Given the description of an element on the screen output the (x, y) to click on. 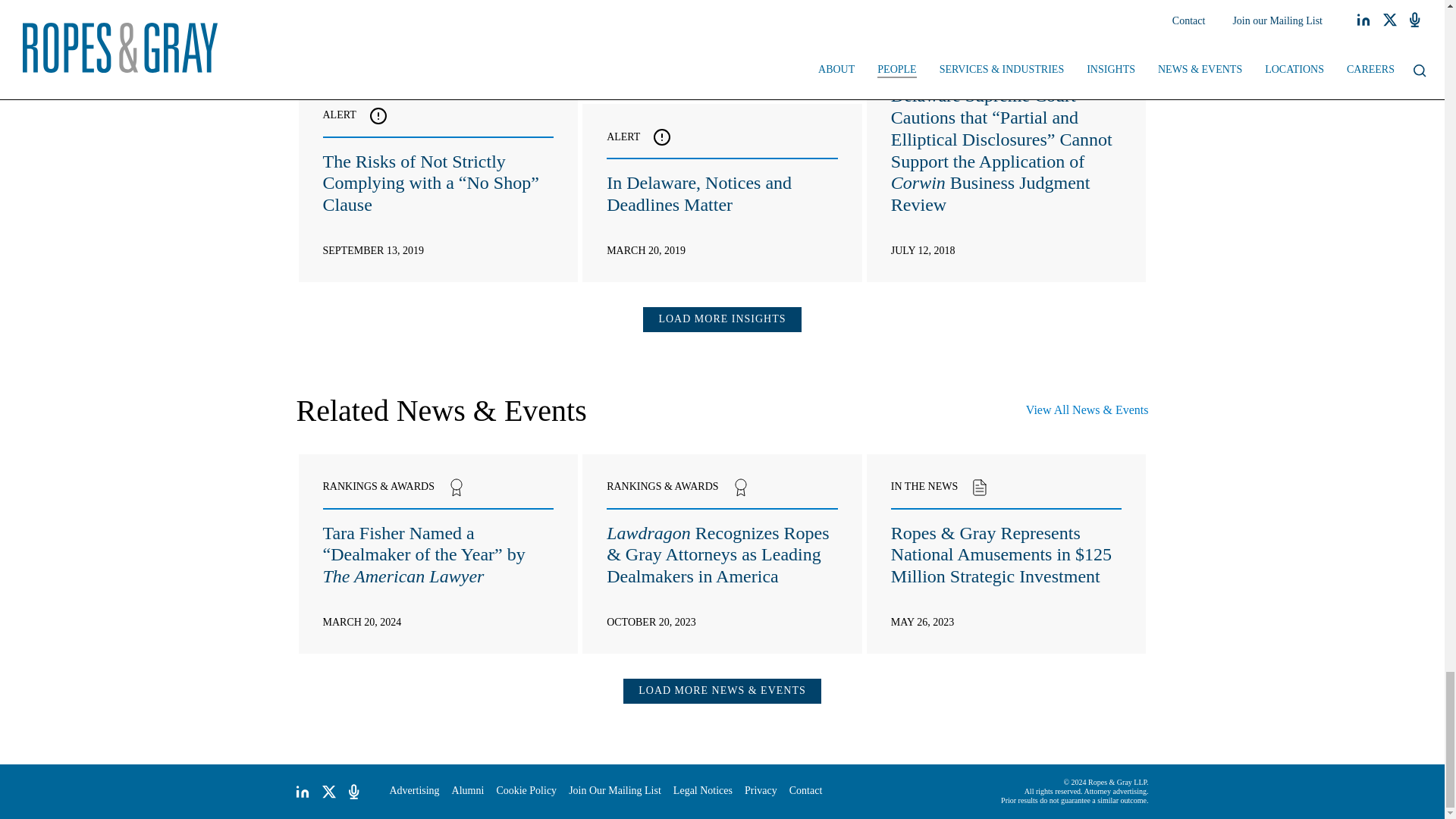
linkedin (301, 791)
x (328, 791)
